Given the description of an element on the screen output the (x, y) to click on. 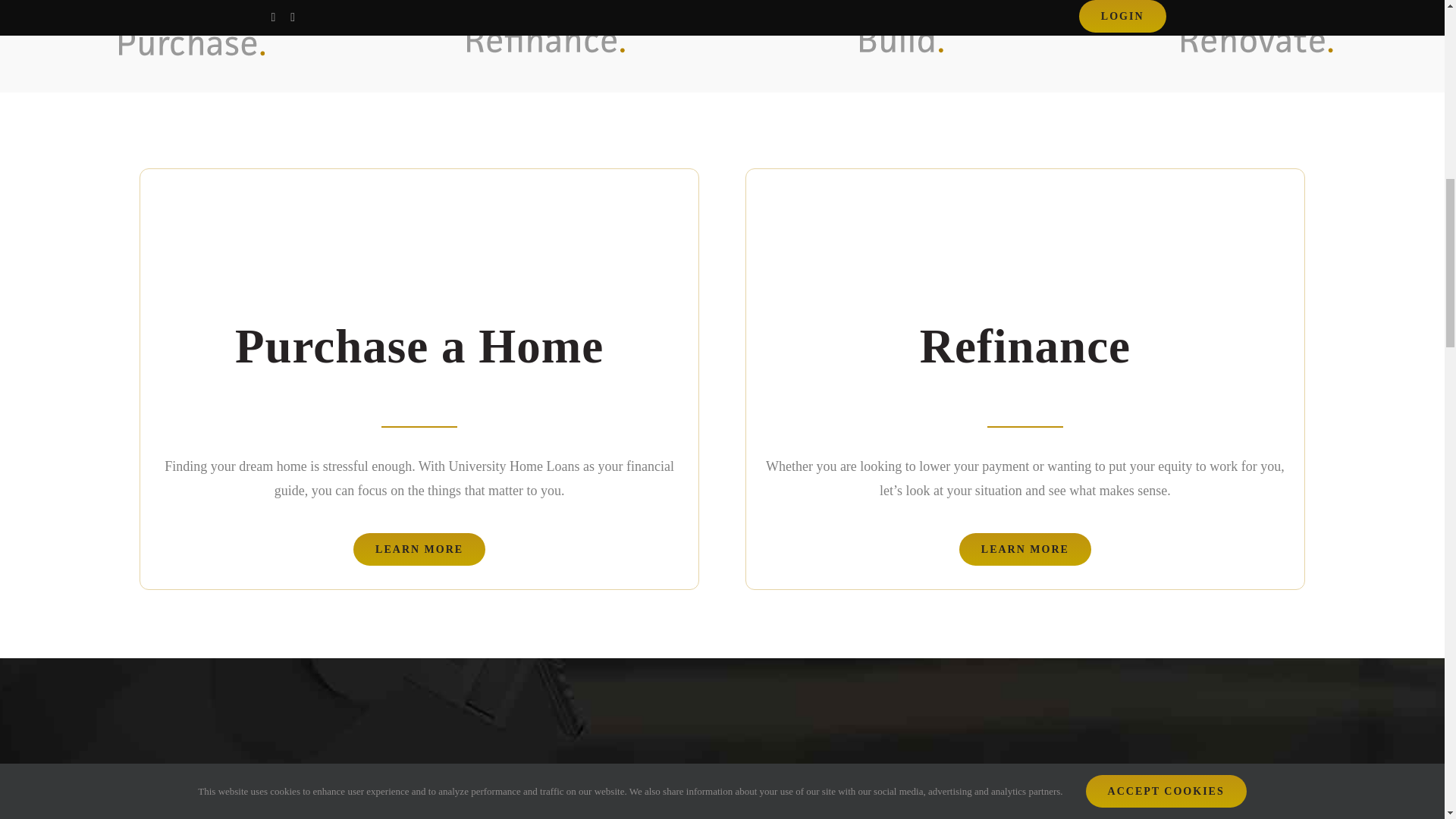
LEARN MORE (1024, 549)
LEARN MORE (418, 549)
